Given the description of an element on the screen output the (x, y) to click on. 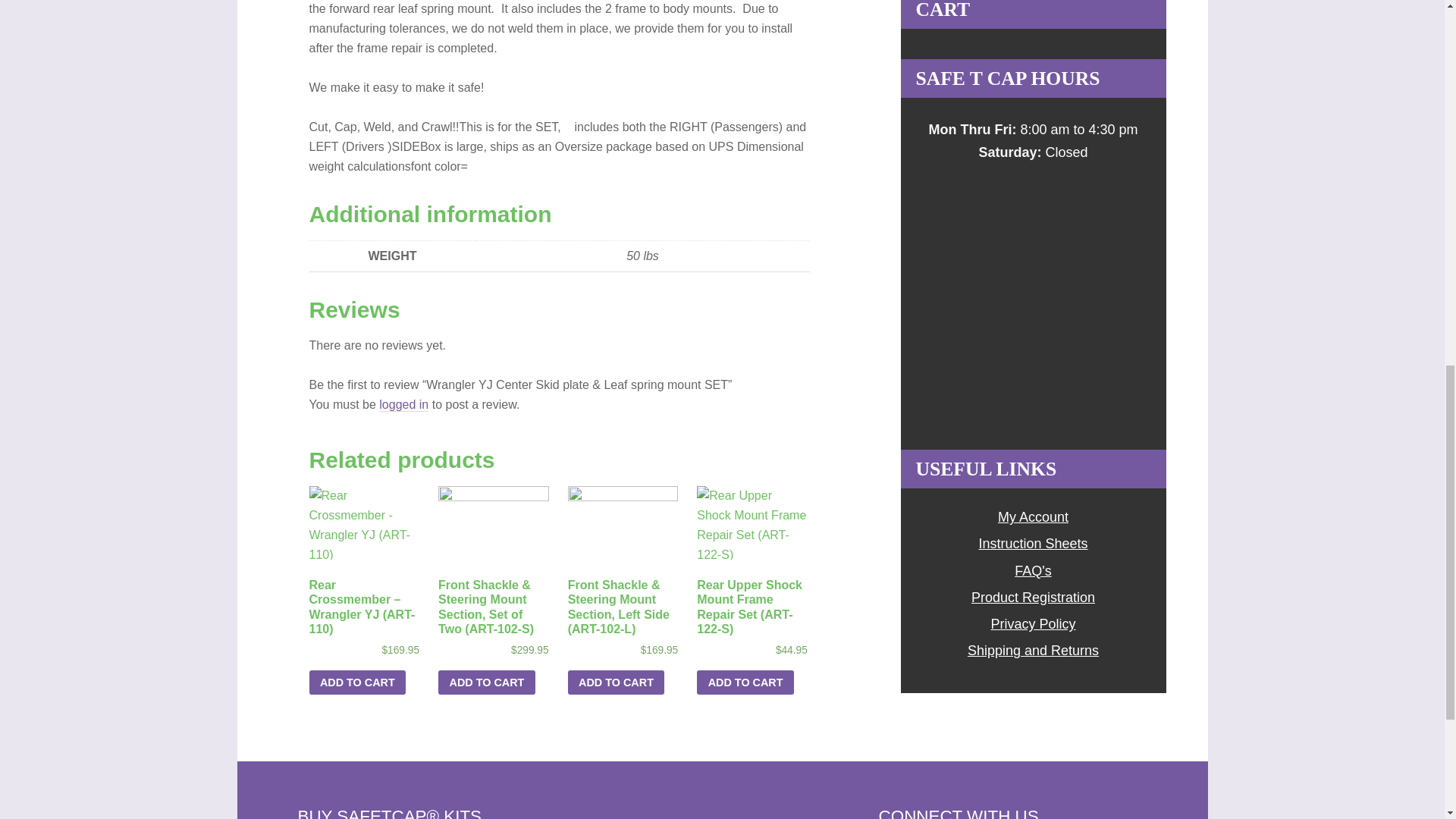
Shipping and Returns (1032, 650)
Update My Account Info or Check Order Status (1032, 516)
Privacy Policy (1032, 623)
Product Registration Form (1032, 597)
